Given the description of an element on the screen output the (x, y) to click on. 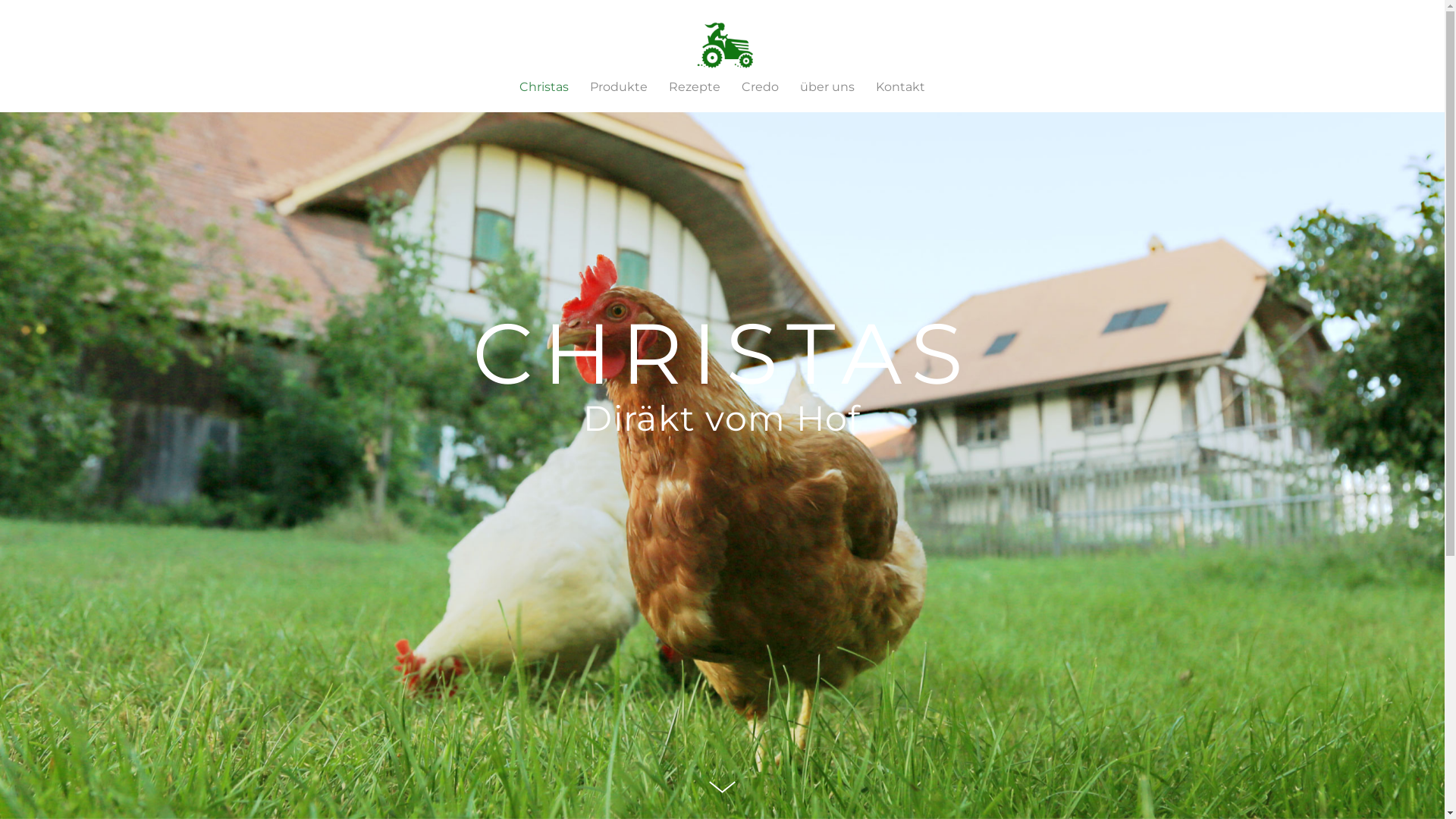
Credo Element type: text (760, 85)
Rezepte Element type: text (694, 85)
Christas Element type: text (549, 85)
Produkte Element type: text (618, 85)
Kontakt Element type: text (895, 85)
Christas Element type: hover (721, 45)
